Given the description of an element on the screen output the (x, y) to click on. 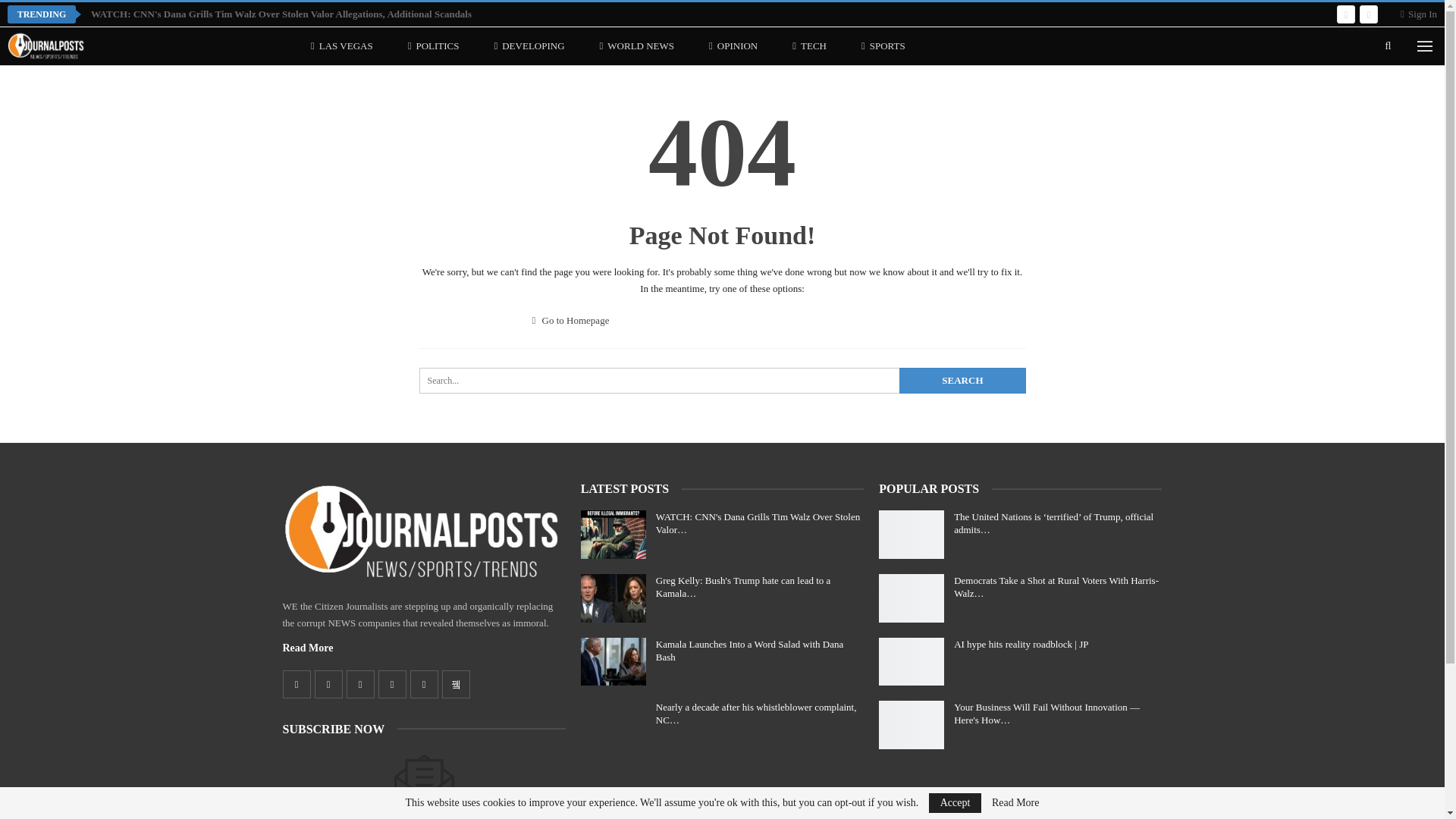
Sign In (1418, 13)
Search (962, 380)
Kamala Launches Into a Word Salad with Dana Bash (613, 661)
Search for: (722, 380)
POLITICS (433, 46)
Read More (307, 647)
WORLD NEWS (637, 46)
